Given the description of an element on the screen output the (x, y) to click on. 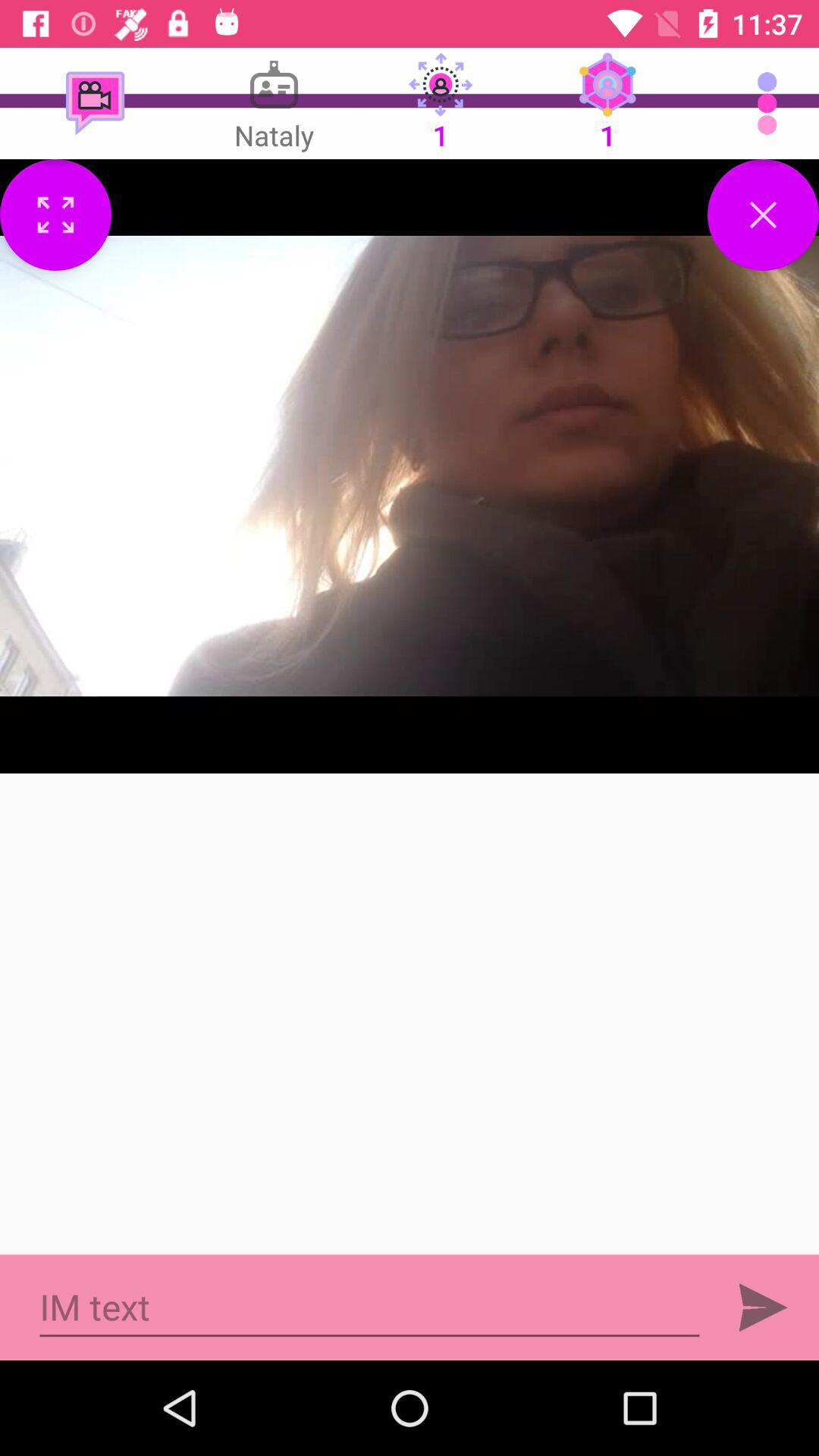
open on full screen (55, 214)
